Given the description of an element on the screen output the (x, y) to click on. 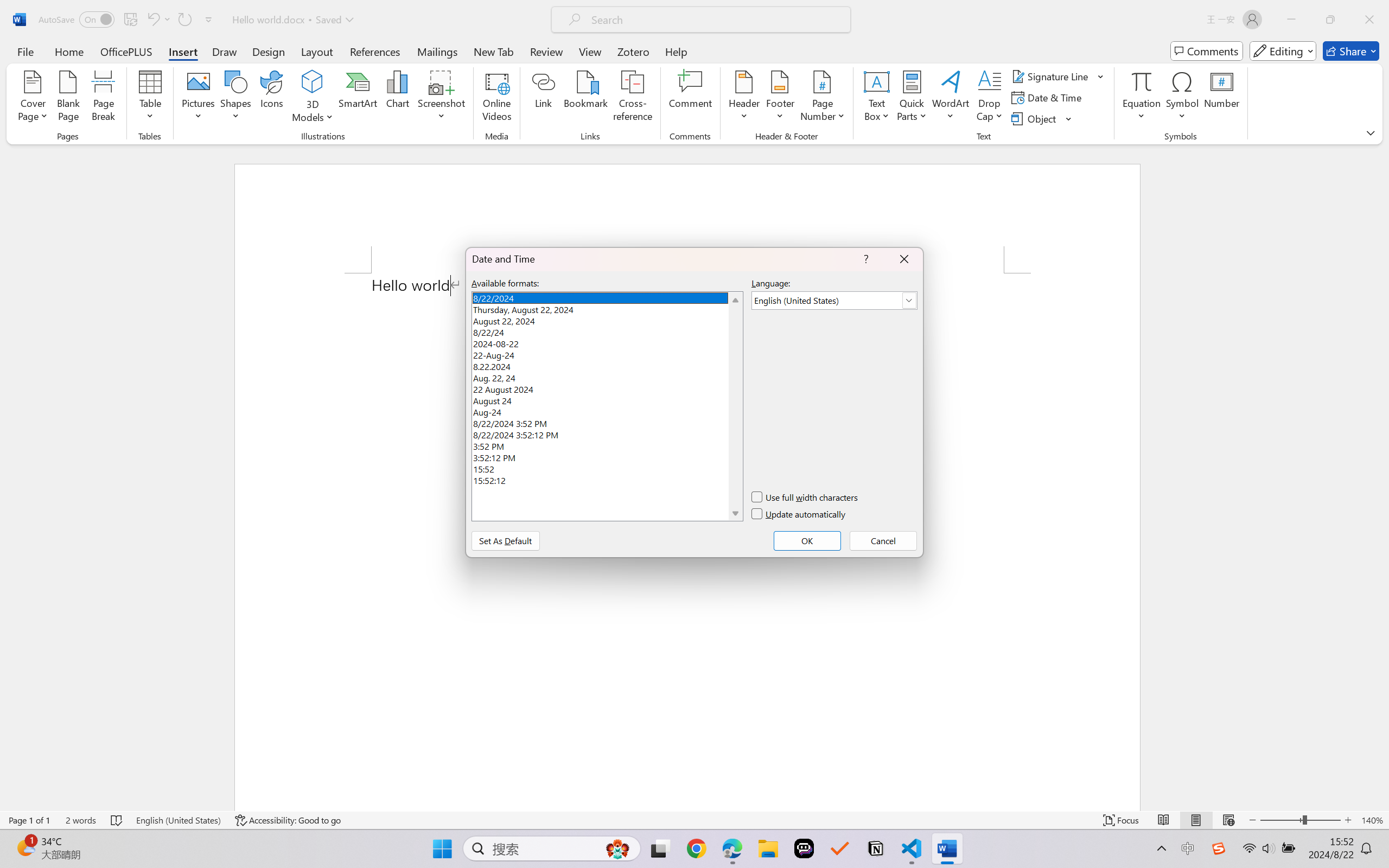
OK (699, 461)
